Given the description of an element on the screen output the (x, y) to click on. 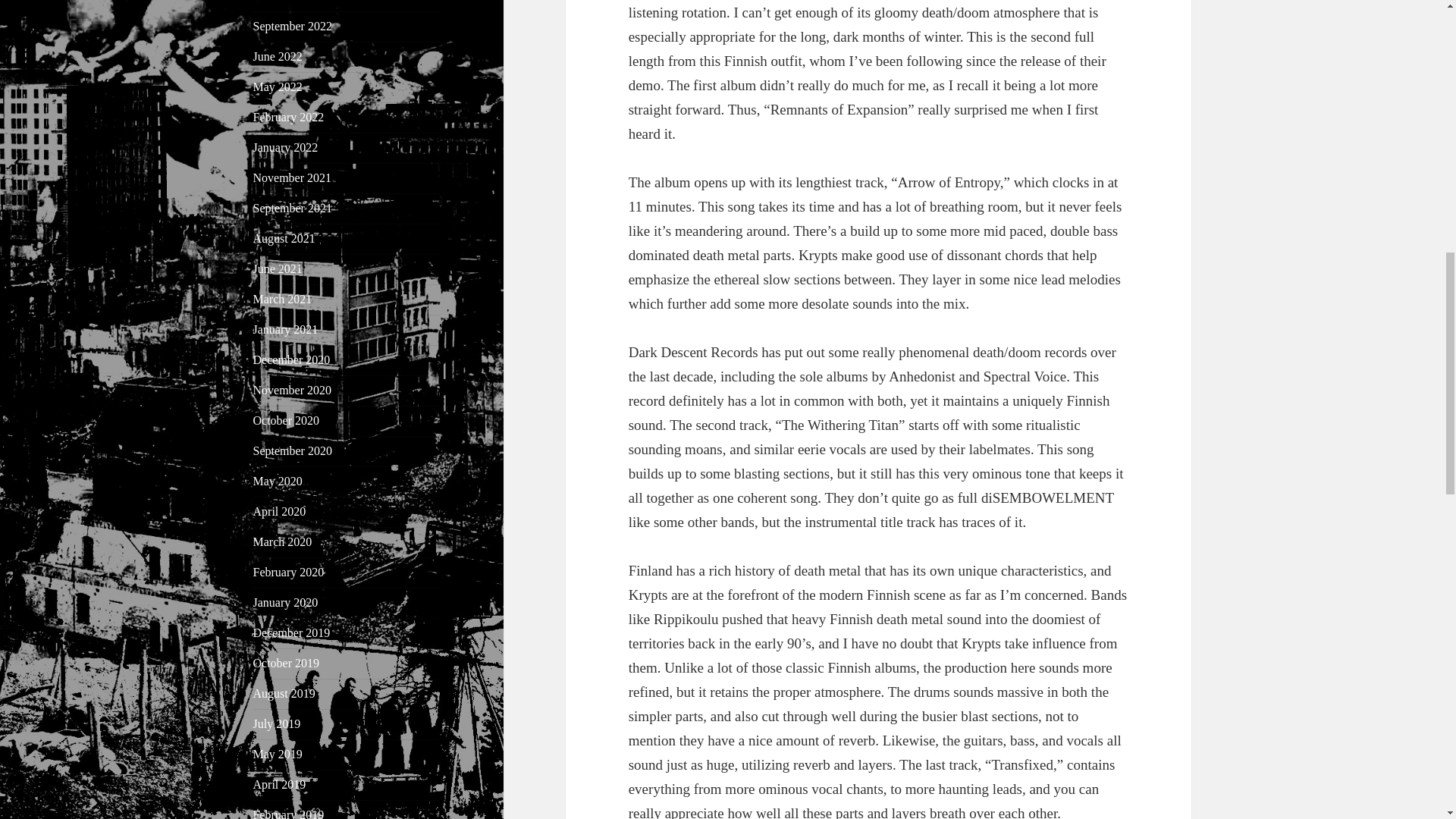
August 2019 (284, 693)
June 2022 (277, 56)
March 2021 (283, 298)
October 2019 (286, 662)
August 2021 (284, 237)
April 2019 (279, 784)
May 2022 (277, 86)
February 2020 (288, 571)
January 2021 (285, 328)
November 2021 (292, 177)
